Given the description of an element on the screen output the (x, y) to click on. 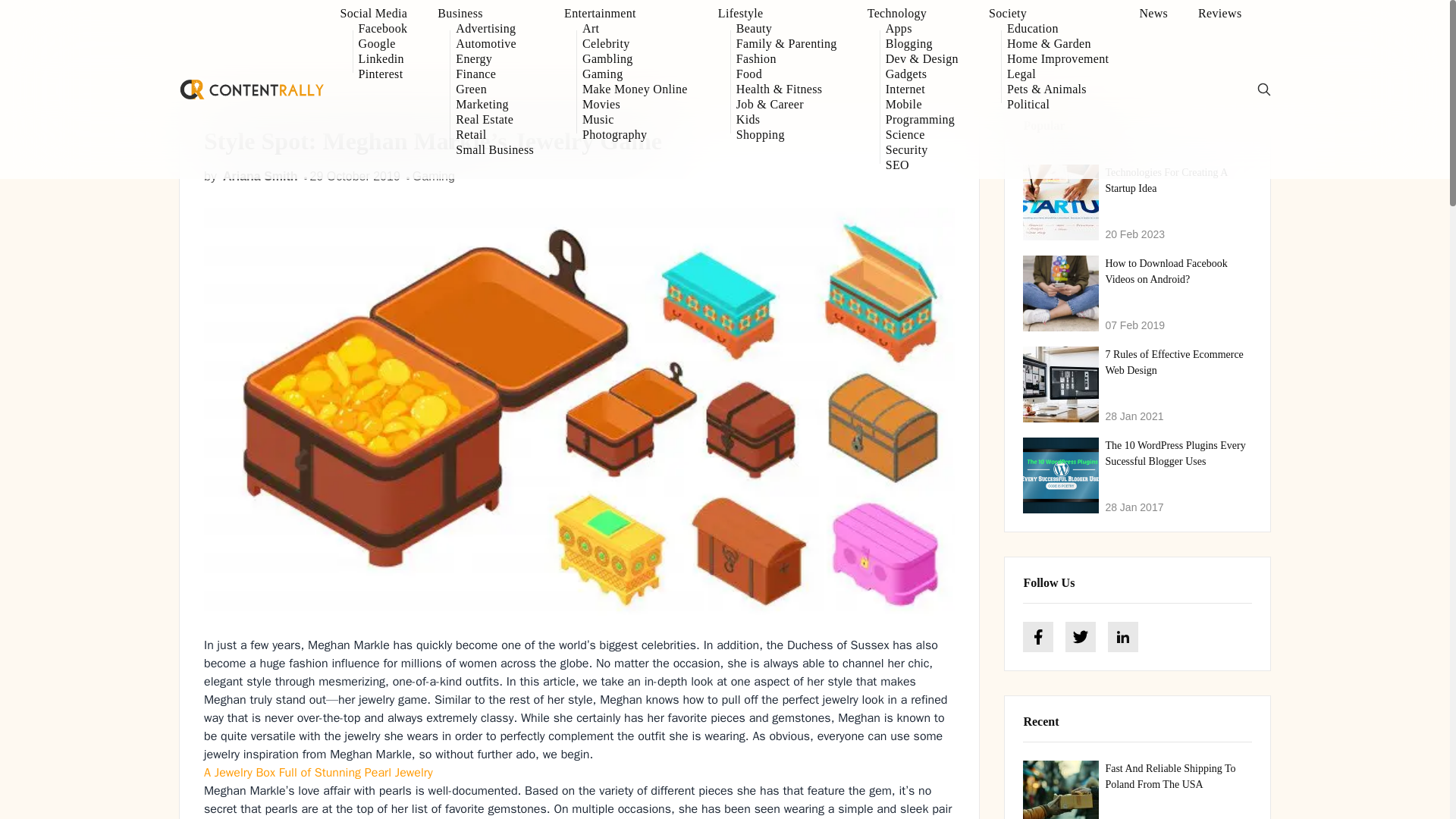
Real Estate (494, 119)
Lifestyle (777, 13)
Blogging (921, 43)
Make Money Online (634, 89)
Business (486, 13)
Facebook (382, 28)
Gadgets (921, 73)
Green (494, 89)
Advertising (494, 28)
Celebrity (634, 43)
